Given the description of an element on the screen output the (x, y) to click on. 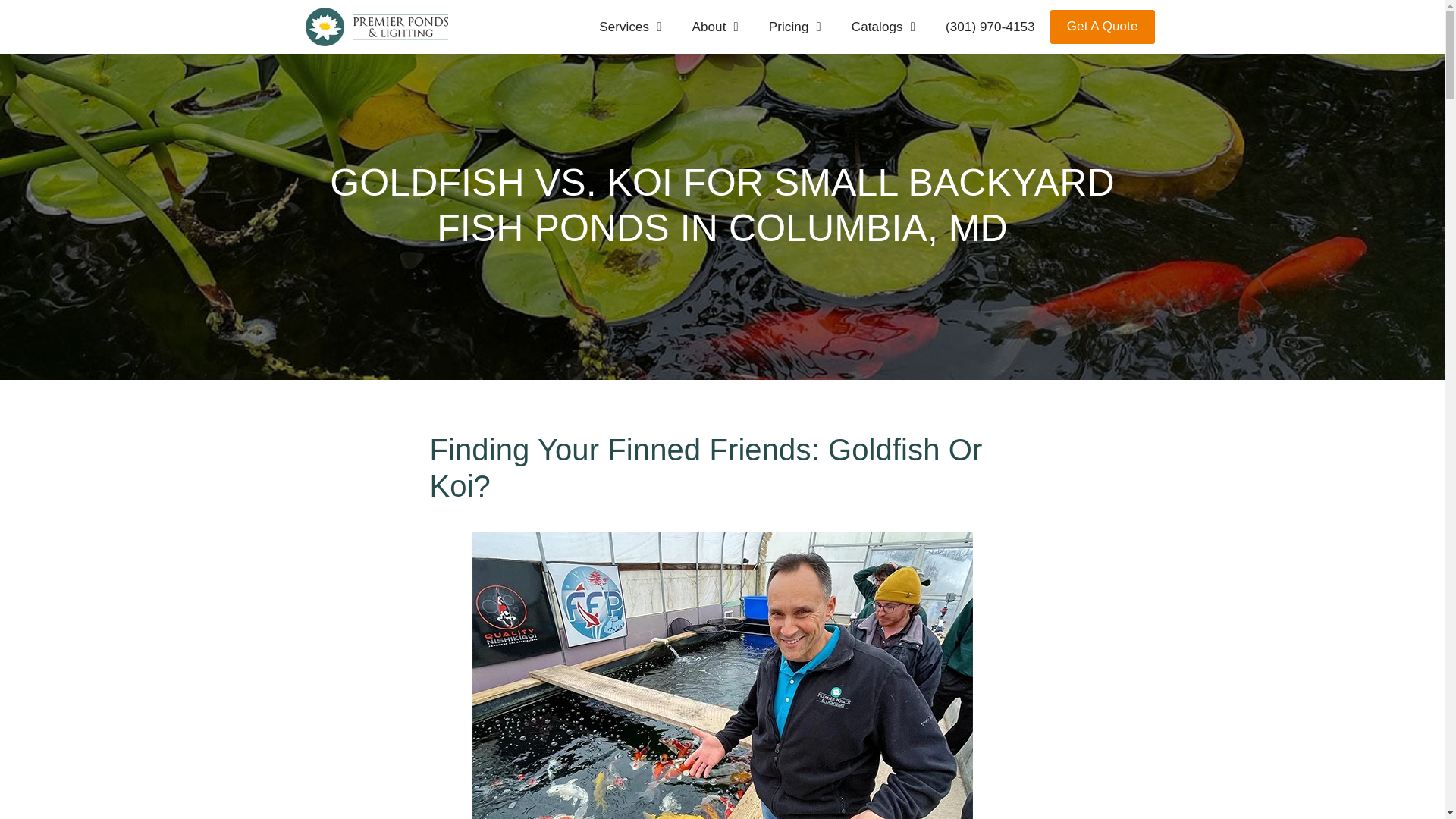
About (715, 26)
Services (630, 26)
Premier Ponds Logo - Premier Ponds (375, 26)
Pricing (794, 26)
Catalogs (882, 26)
